Given the description of an element on the screen output the (x, y) to click on. 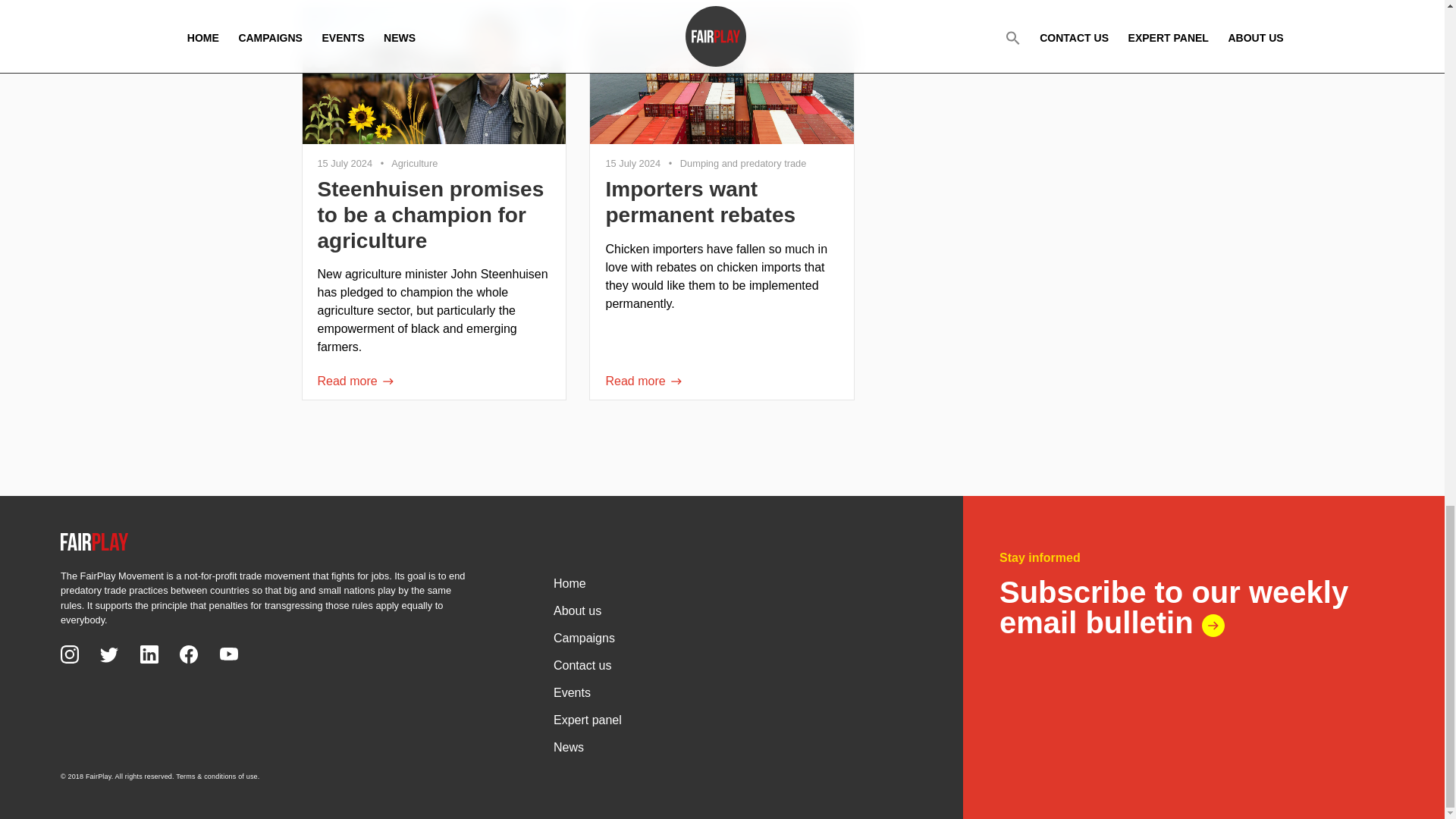
Expert panel (733, 718)
Home (733, 582)
Contact us (733, 664)
Events (733, 691)
About us (733, 609)
News (733, 746)
Campaigns (1202, 593)
